Given the description of an element on the screen output the (x, y) to click on. 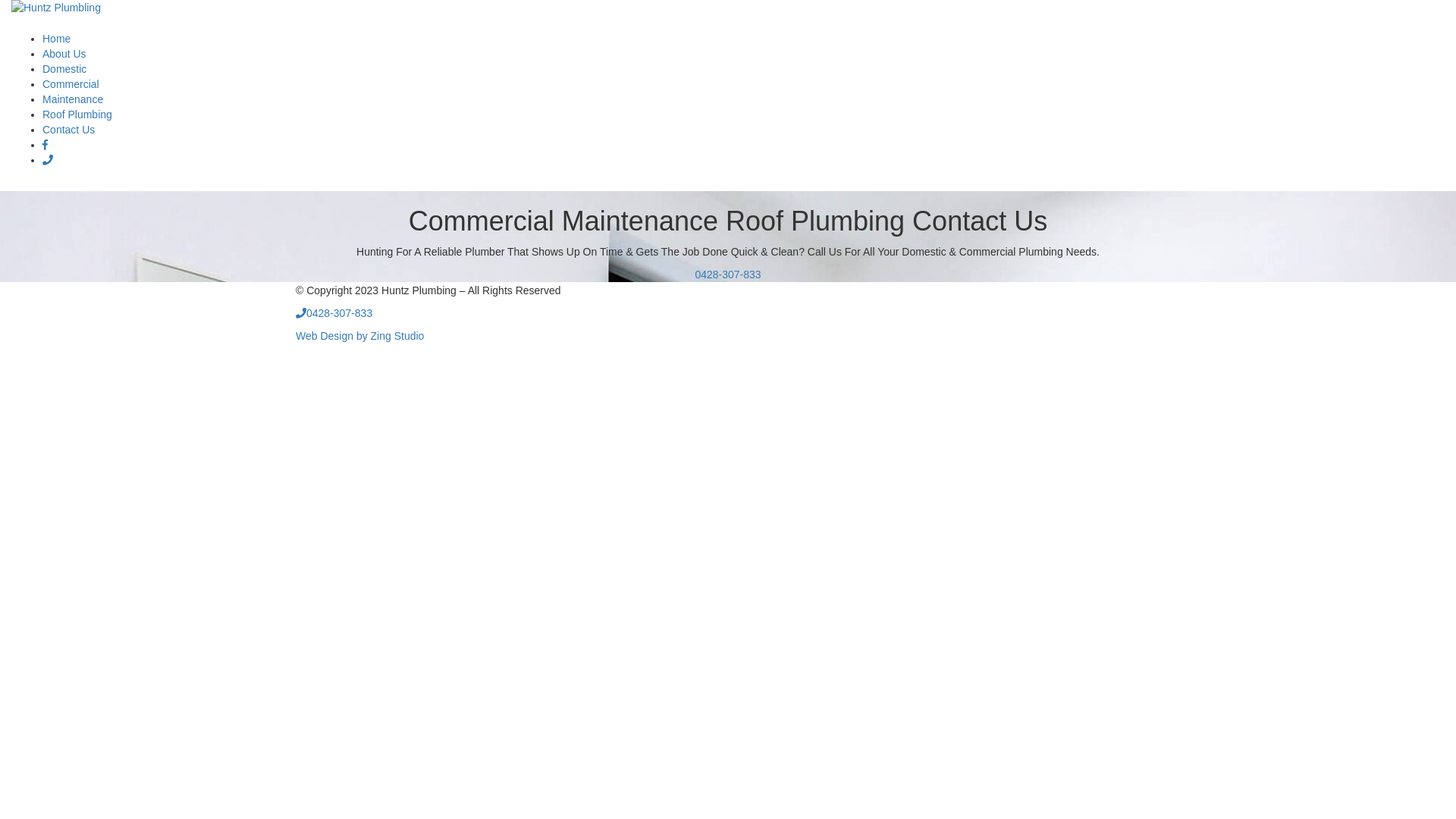
Contact Us Element type: text (68, 129)
Domestic Element type: text (64, 68)
Web Design by Zing Studio Element type: text (359, 335)
0428-307-833 Element type: text (727, 274)
Commercial Element type: text (70, 84)
About Us Element type: text (64, 53)
0428-307-833 Element type: text (333, 313)
Maintenance Element type: text (72, 99)
Roof Plumbing Element type: text (77, 114)
Home Element type: text (56, 38)
